Given the description of an element on the screen output the (x, y) to click on. 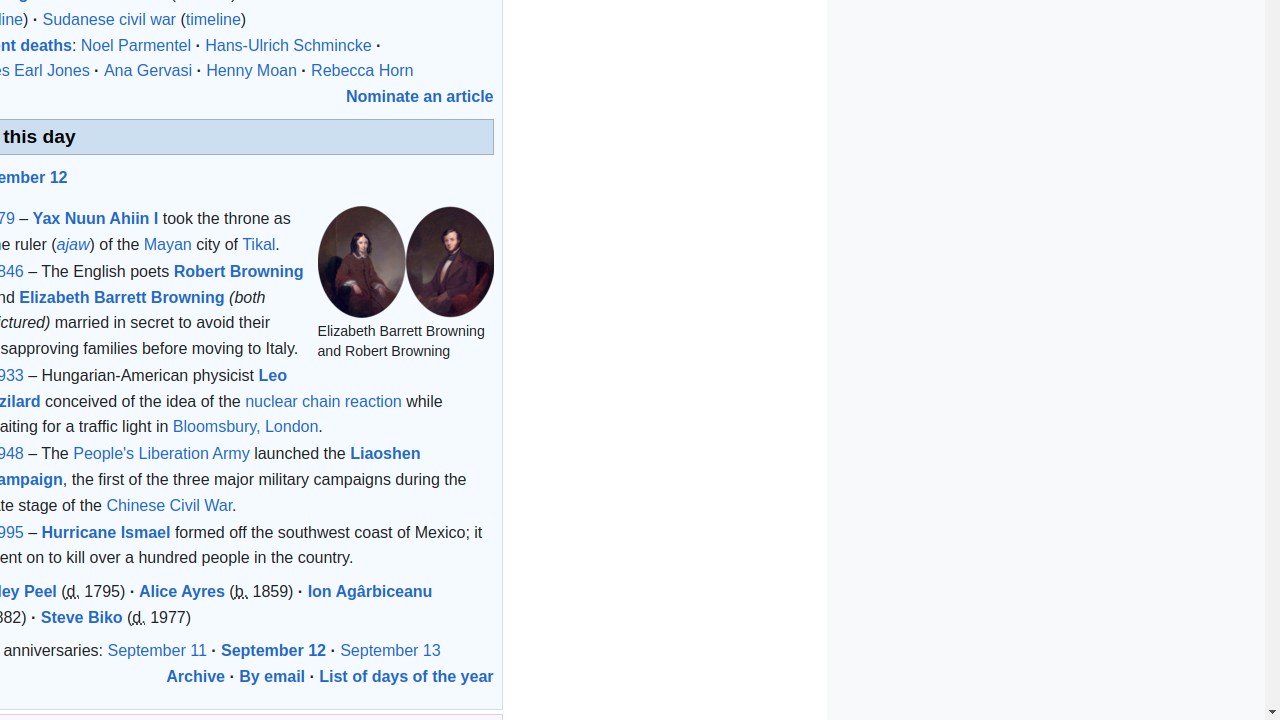
Hurricane Ismael Element type: link (106, 532)
Mayan Element type: link (167, 243)
Elizabeth Barrett Browning Element type: link (122, 297)
ajaw Element type: link (73, 243)
People's Liberation Army Element type: link (161, 454)
